Given the description of an element on the screen output the (x, y) to click on. 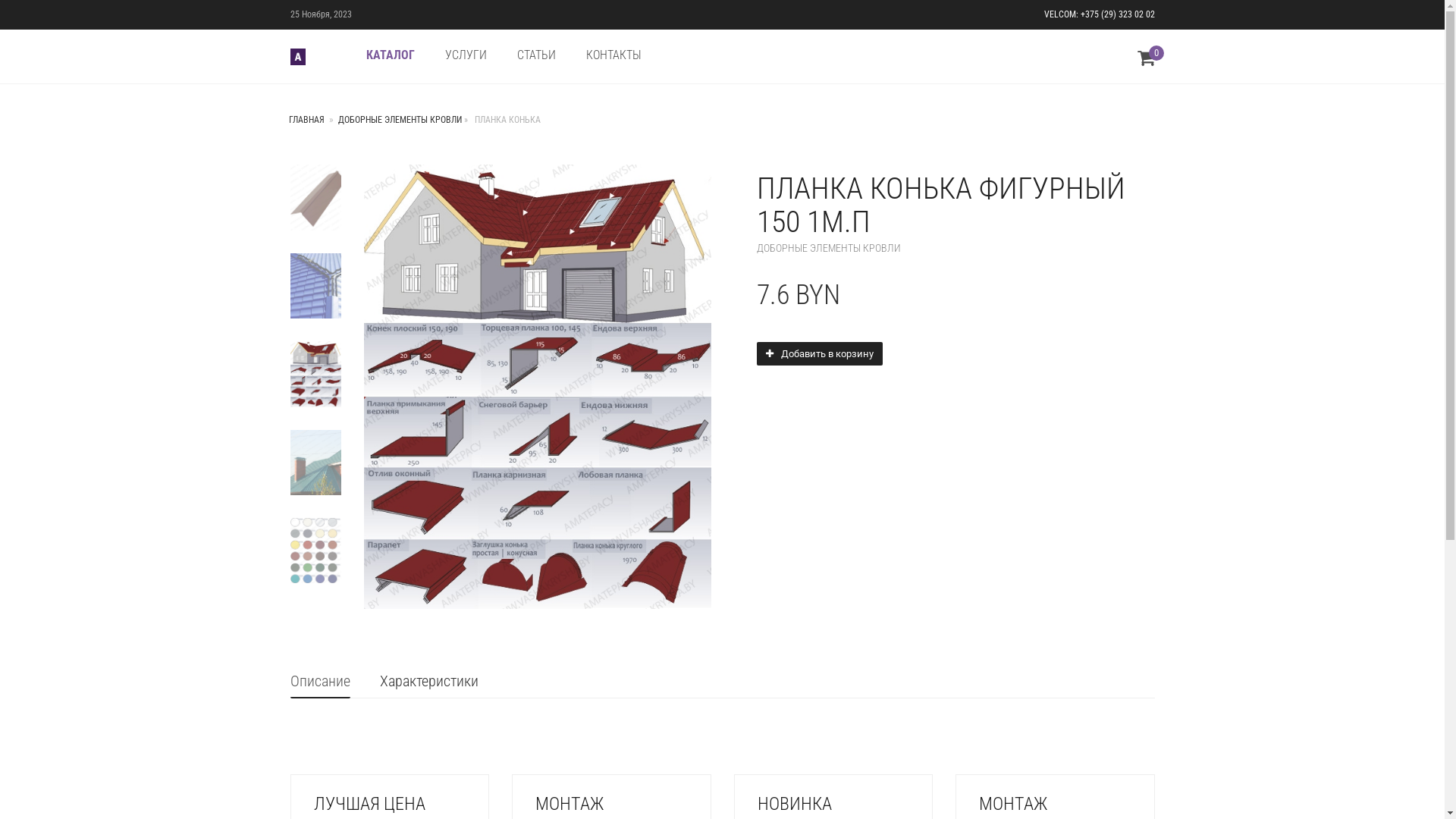
0 Element type: text (1145, 61)
